Given the description of an element on the screen output the (x, y) to click on. 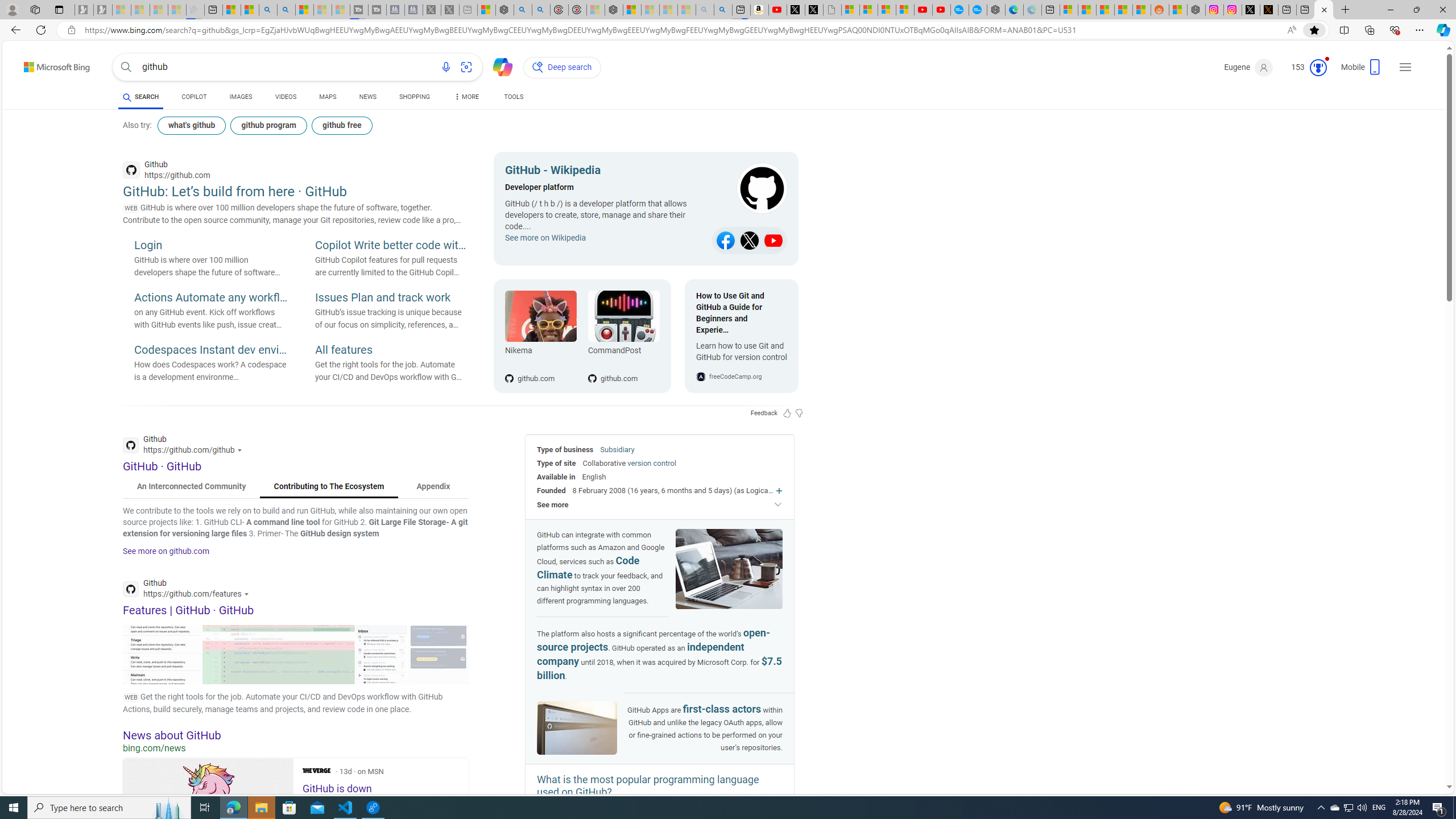
GitHub - Wikipedia (604, 171)
Codespaces Instant dev environments (210, 350)
Nordace - Nordace Siena Is Not An Ordinary Backpack (613, 9)
github - Search (1324, 9)
Appendix (432, 486)
CommandPost (623, 315)
CommandPost (623, 352)
